Given the description of an element on the screen output the (x, y) to click on. 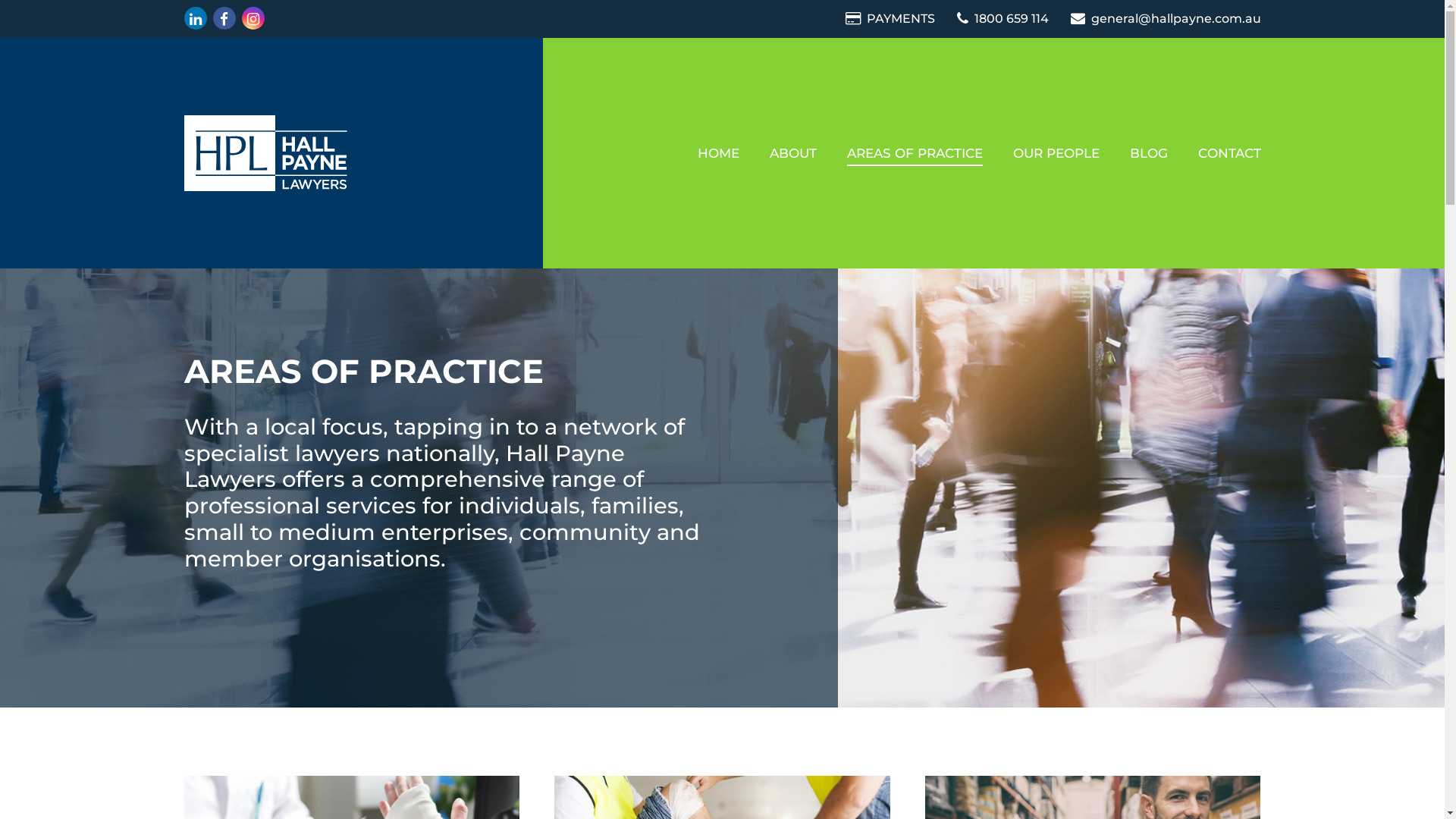
OUR PEOPLE Element type: text (1055, 152)
ABOUT Element type: text (792, 152)
  PAYMENTS Element type: text (890, 18)
AREAS OF PRACTICE Element type: text (914, 152)
Facebook Element type: hover (223, 17)
BLOG Element type: text (1148, 152)
CONTACT Element type: text (1229, 152)
LinkedIn Element type: hover (194, 17)
HOME Element type: text (718, 152)
Instagram Element type: hover (252, 17)
  1800 659 114 Element type: text (1004, 18)
  general@hallpayne.com.au Element type: text (1165, 18)
